Given the description of an element on the screen output the (x, y) to click on. 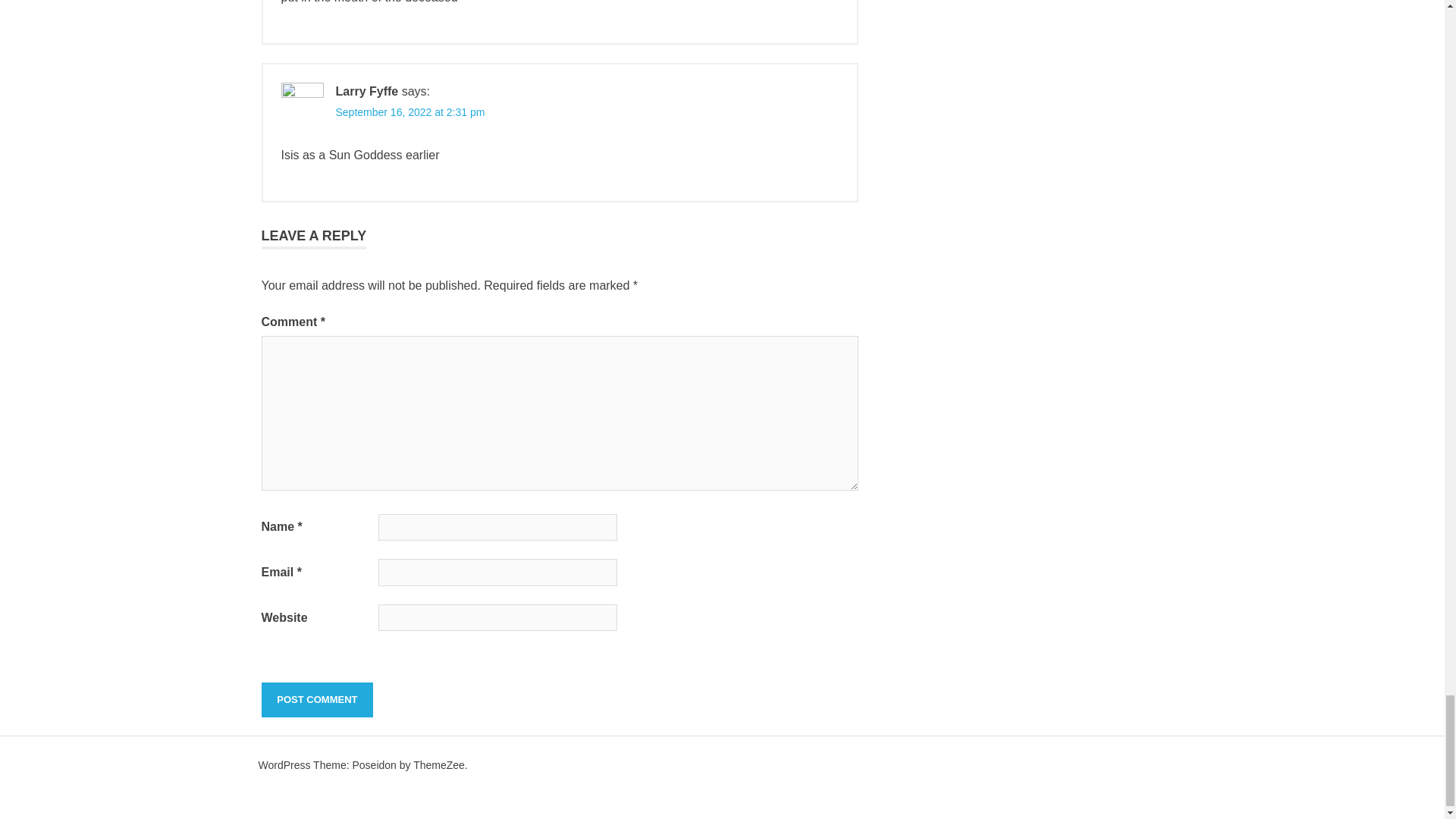
September 16, 2022 at 2:31 pm (409, 111)
Post Comment (316, 699)
Post Comment (316, 699)
